Given the description of an element on the screen output the (x, y) to click on. 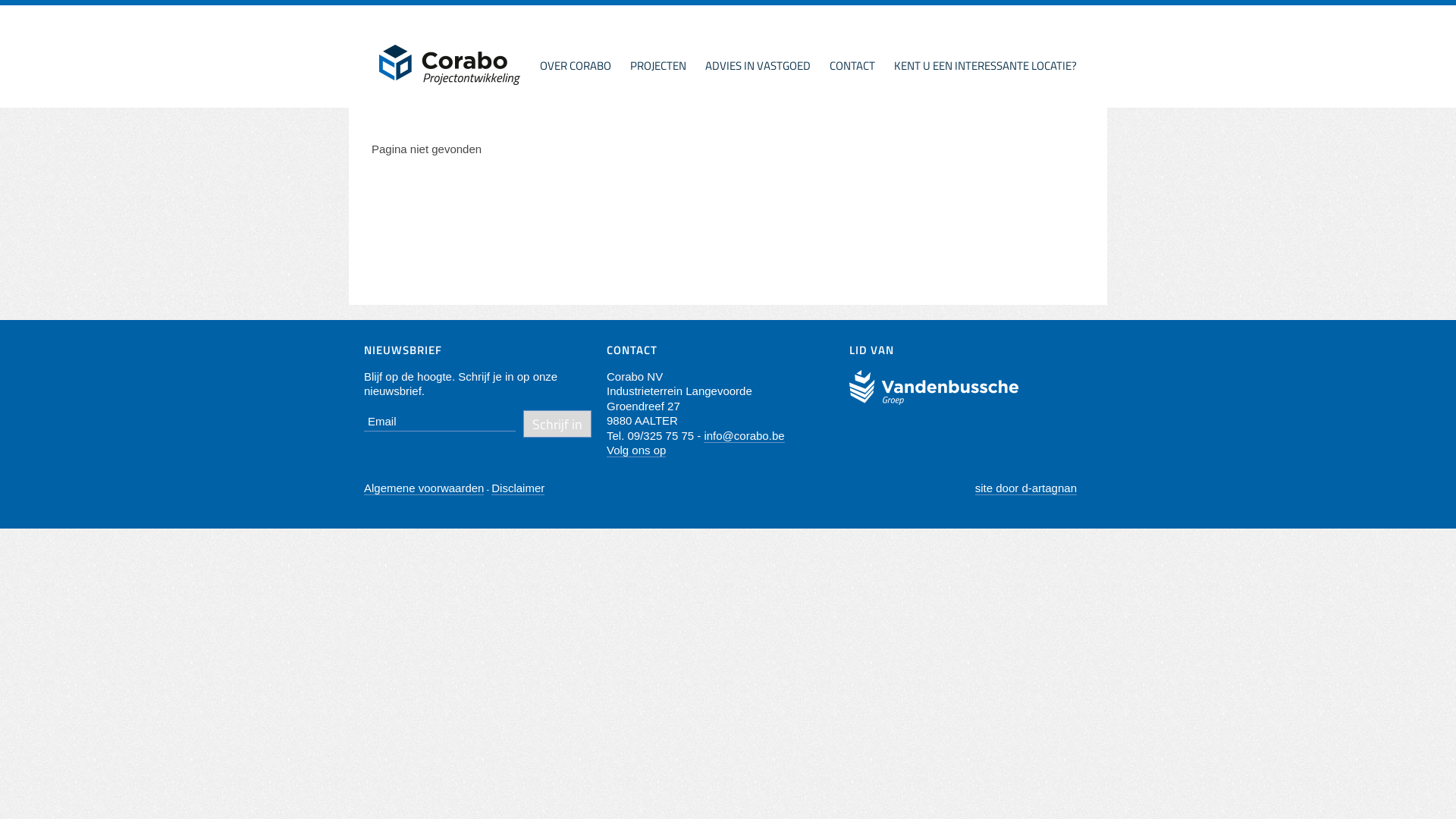
info@corabo.be Element type: text (743, 435)
Algemene voorwaarden Element type: text (423, 487)
KENT U EEN INTERESSANTE LOCATIE? Element type: text (985, 66)
Volg ons op Element type: text (635, 450)
CORABO
PROJECTONTWIKKELING Element type: text (449, 64)
ADVIES IN VASTGOED Element type: text (757, 66)
OVER CORABO Element type: text (575, 66)
Schrijf in Element type: text (557, 422)
Disclaimer Element type: text (517, 487)
PROJECTEN Element type: text (658, 66)
Vandenbussche Groep Element type: text (933, 387)
CONTACT Element type: text (852, 66)
site door d-artagnan Element type: text (1025, 487)
